Given the description of an element on the screen output the (x, y) to click on. 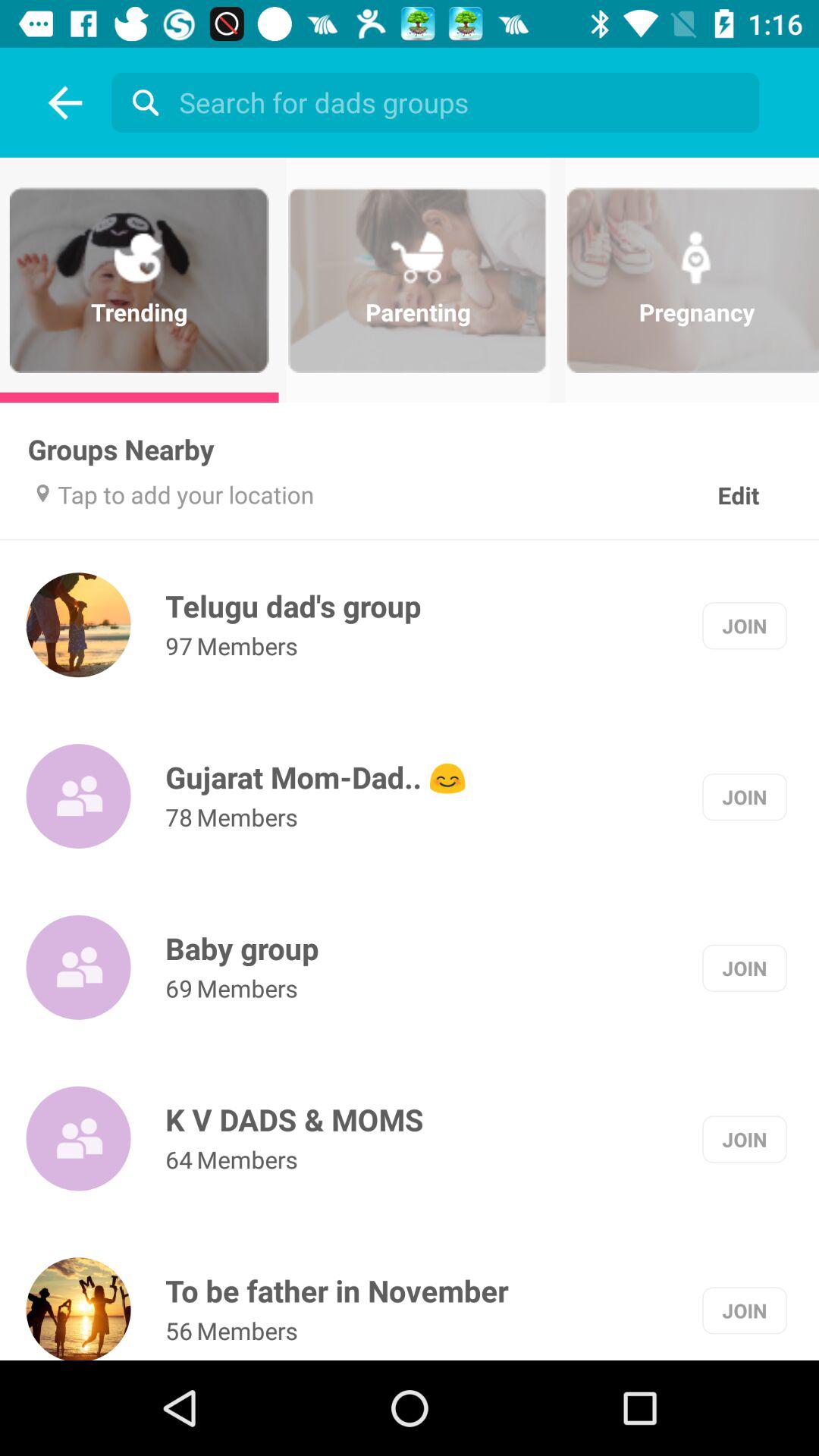
choose icon above k v dads item (178, 987)
